Given the description of an element on the screen output the (x, y) to click on. 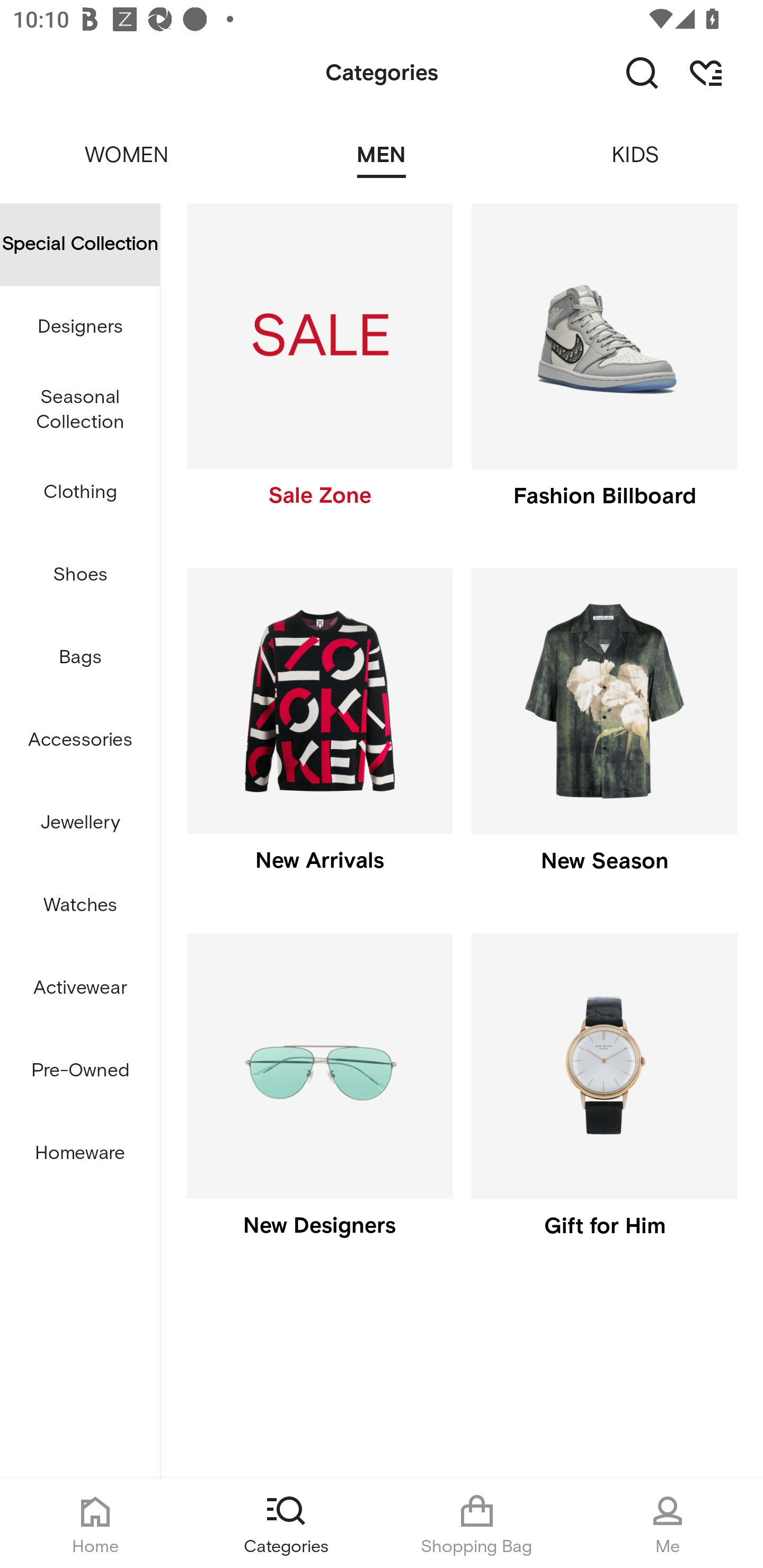
WOMEN (127, 143)
KIDS (635, 143)
Special Collection (80, 244)
Sale Zone (319, 369)
Fashion Billboard (604, 369)
Designers (80, 326)
Seasonal Collection (80, 409)
Clothing (80, 492)
Shoes (80, 575)
New Arrivals (319, 734)
New Season (604, 734)
Bags (80, 657)
Accessories (80, 740)
Jewellery (80, 822)
Watches (80, 905)
New Designers (319, 1099)
Gift for Him (604, 1099)
Activewear (80, 988)
Pre-Owned (80, 1070)
Homeware (80, 1152)
Home (95, 1523)
Shopping Bag (476, 1523)
Me (667, 1523)
